Given the description of an element on the screen output the (x, y) to click on. 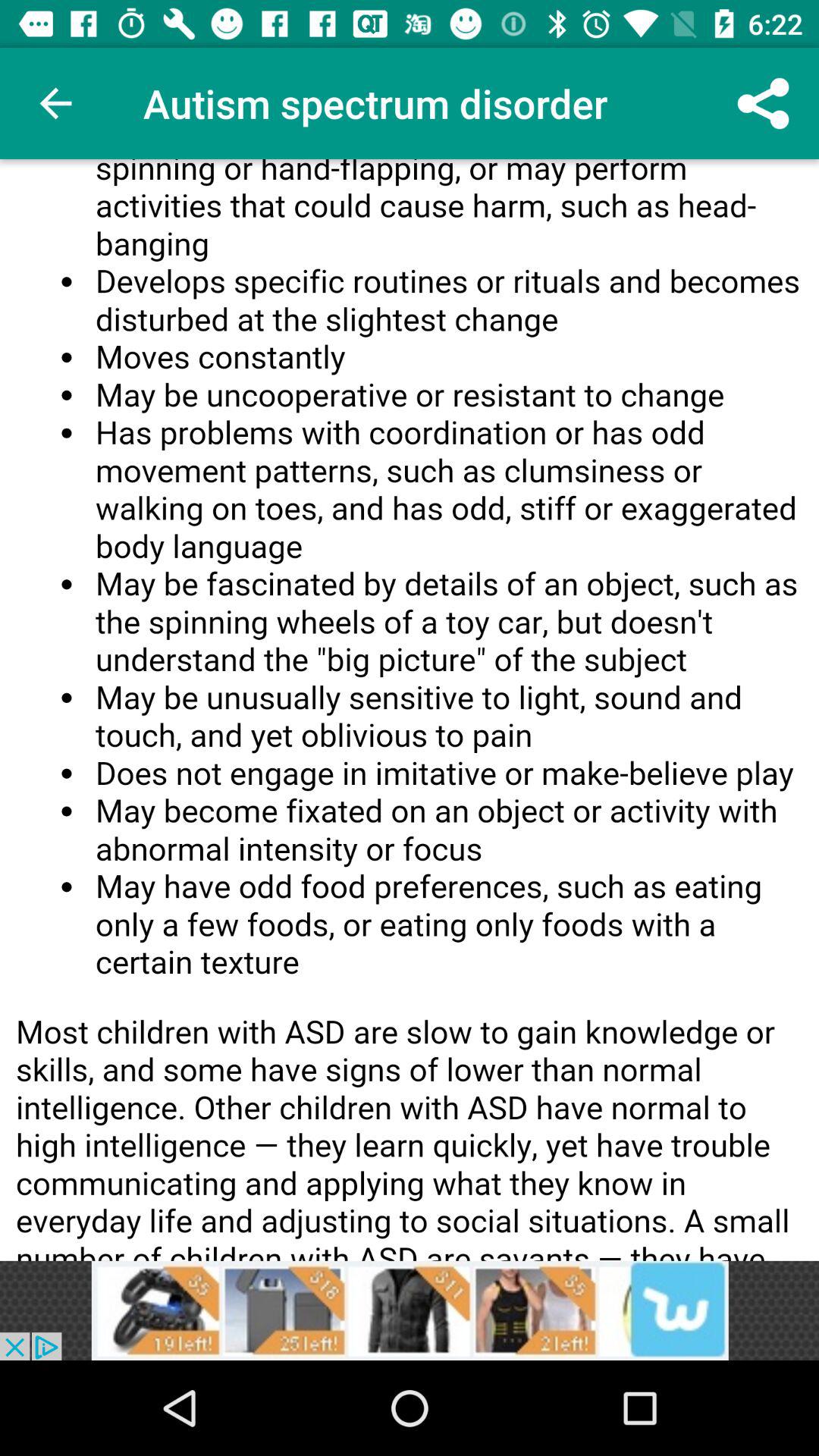
advadisment app (409, 1310)
